Given the description of an element on the screen output the (x, y) to click on. 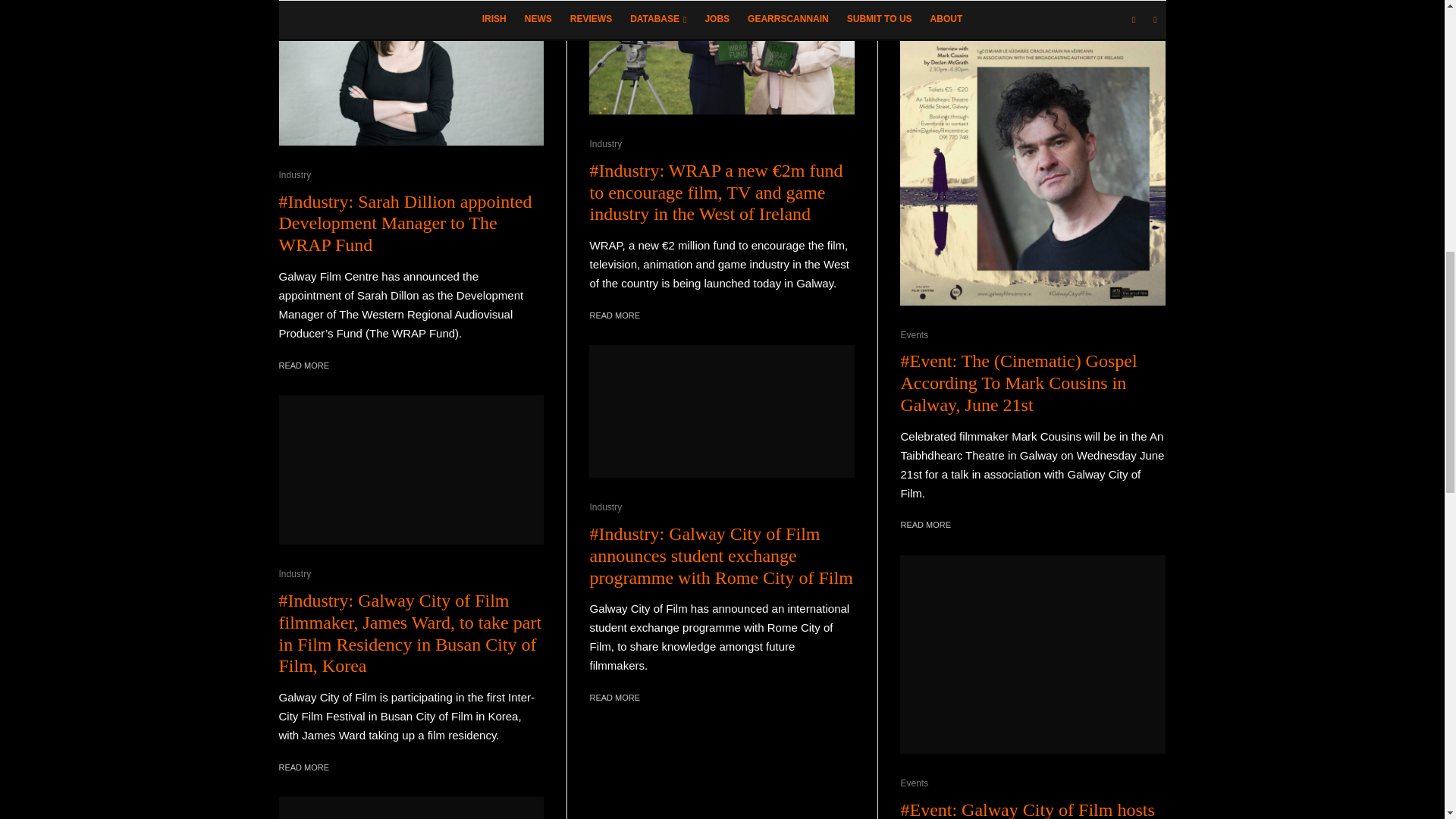
science-on-screen-galway (411, 807)
